Given the description of an element on the screen output the (x, y) to click on. 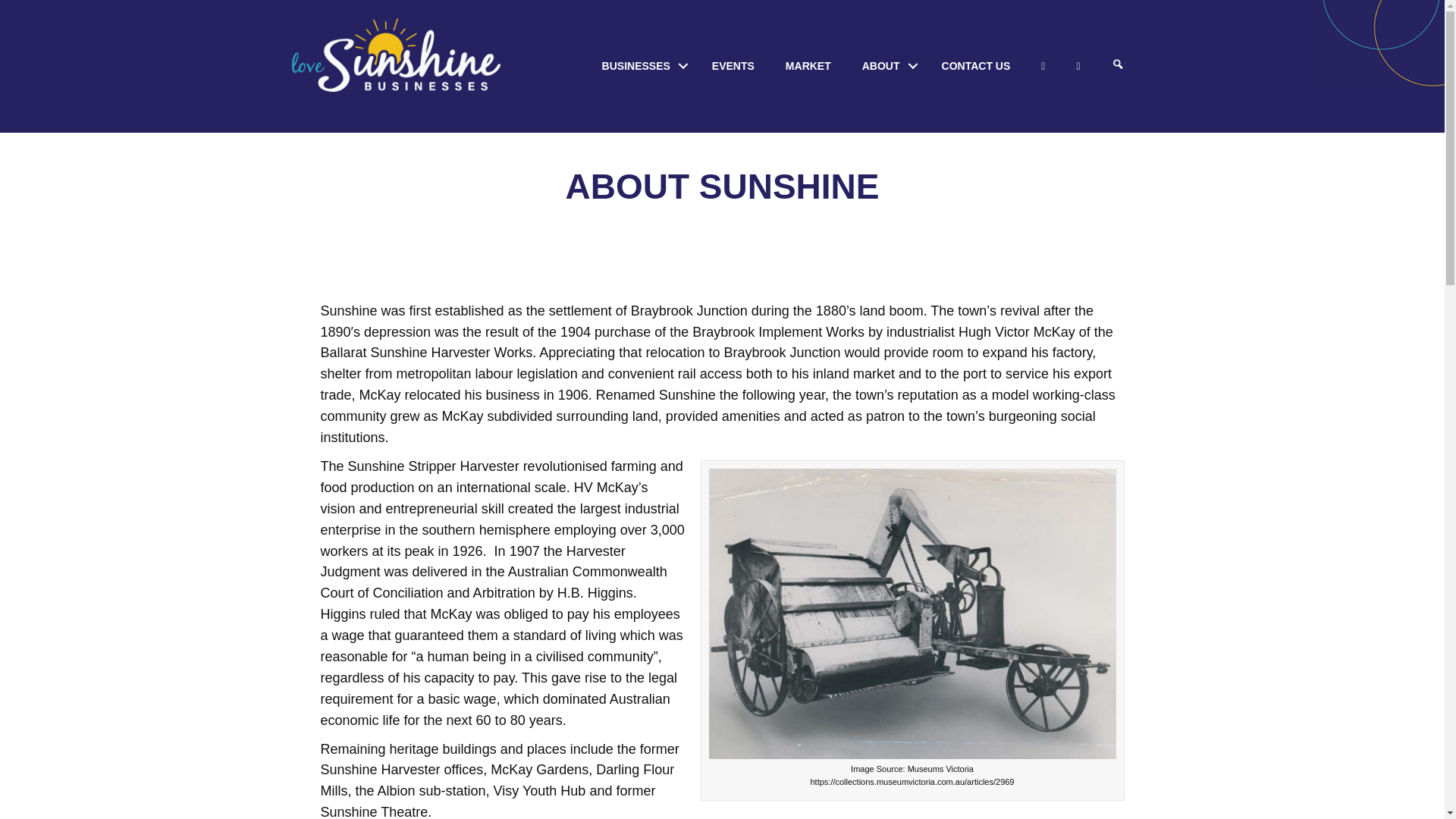
CONTACT US (976, 65)
SEARCH (1118, 65)
BUSINESSES (640, 65)
ABOUT (886, 65)
EVENTS (733, 65)
MARKET (807, 65)
